Given the description of an element on the screen output the (x, y) to click on. 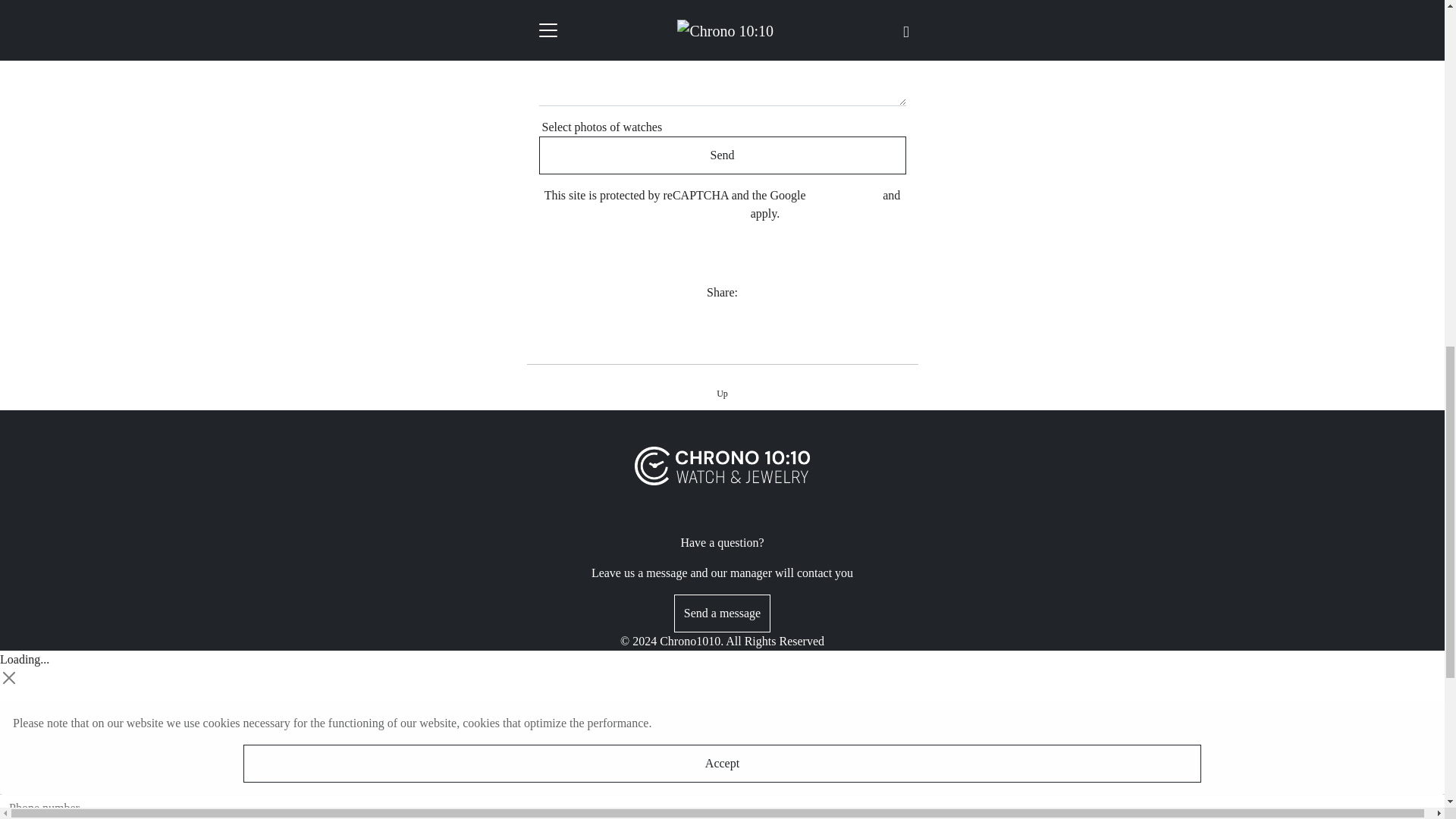
Privacy Policy (843, 195)
Terms of Service (706, 213)
Send (721, 155)
Up (722, 393)
